Given the description of an element on the screen output the (x, y) to click on. 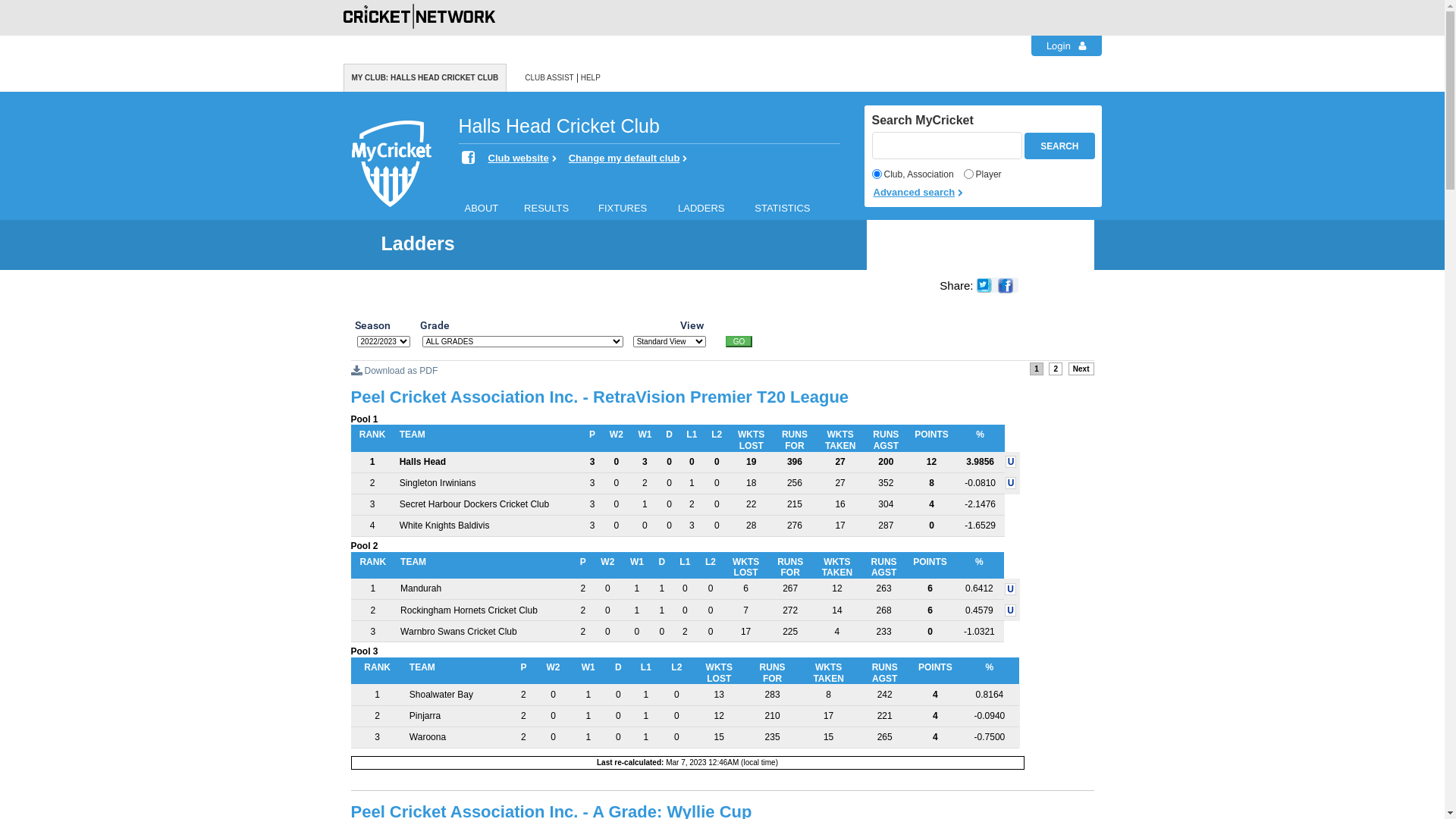
LADDERS Element type: text (709, 206)
MY CLUB: HALLS HEAD CRICKET CLUB Element type: text (424, 77)
Search Element type: text (1059, 145)
Change my default club Element type: text (627, 158)
Share on Facebook Element type: hover (1007, 285)
HELP Element type: text (590, 77)
GO Element type: text (739, 341)
Tweet this Element type: hover (986, 285)
RESULTS Element type: text (554, 206)
Advanced search Element type: text (985, 192)
Next Element type: text (1081, 368)
Club website Element type: text (522, 158)
2 Element type: text (1055, 368)
Download as PDF Element type: text (393, 370)
CLUB ASSIST Element type: text (548, 77)
FIXTURES Element type: text (631, 206)
Facebook Element type: hover (469, 157)
STATISTICS Element type: text (792, 206)
ABOUT Element type: text (487, 206)
